Given the description of an element on the screen output the (x, y) to click on. 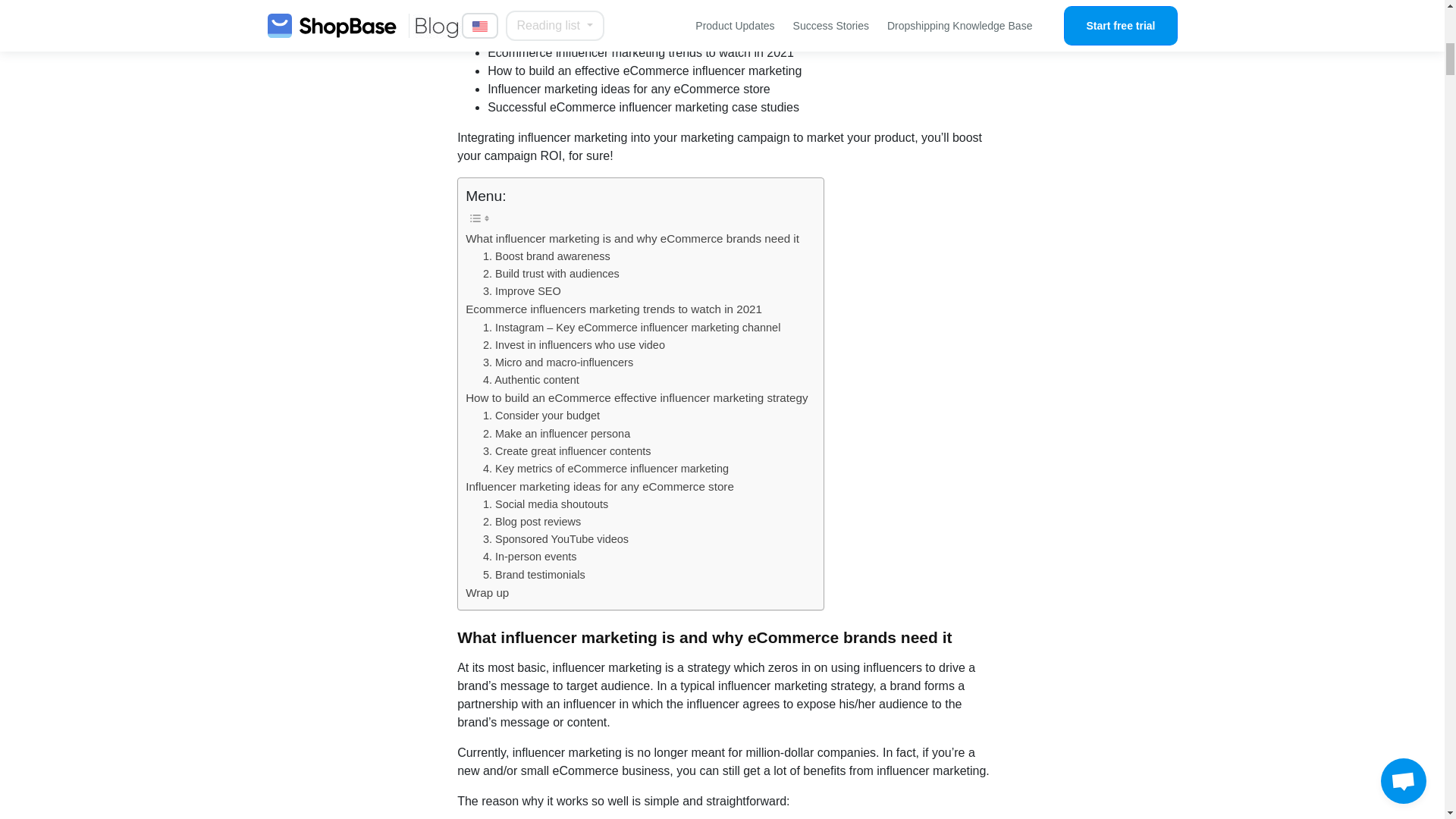
4. Authentic content (531, 380)
3. Micro and macro-influencers (558, 362)
3. Create great influencer contents (566, 451)
1. Social media shoutouts (545, 504)
3. Micro and macro-influencers (558, 362)
2. Blog post reviews (531, 521)
1. Consider your budget (541, 416)
1. Boost brand awareness (546, 256)
2. Make an influencer persona (556, 434)
5. Brand testimonials (534, 574)
2. Invest in influencers who use video (574, 344)
